Given the description of an element on the screen output the (x, y) to click on. 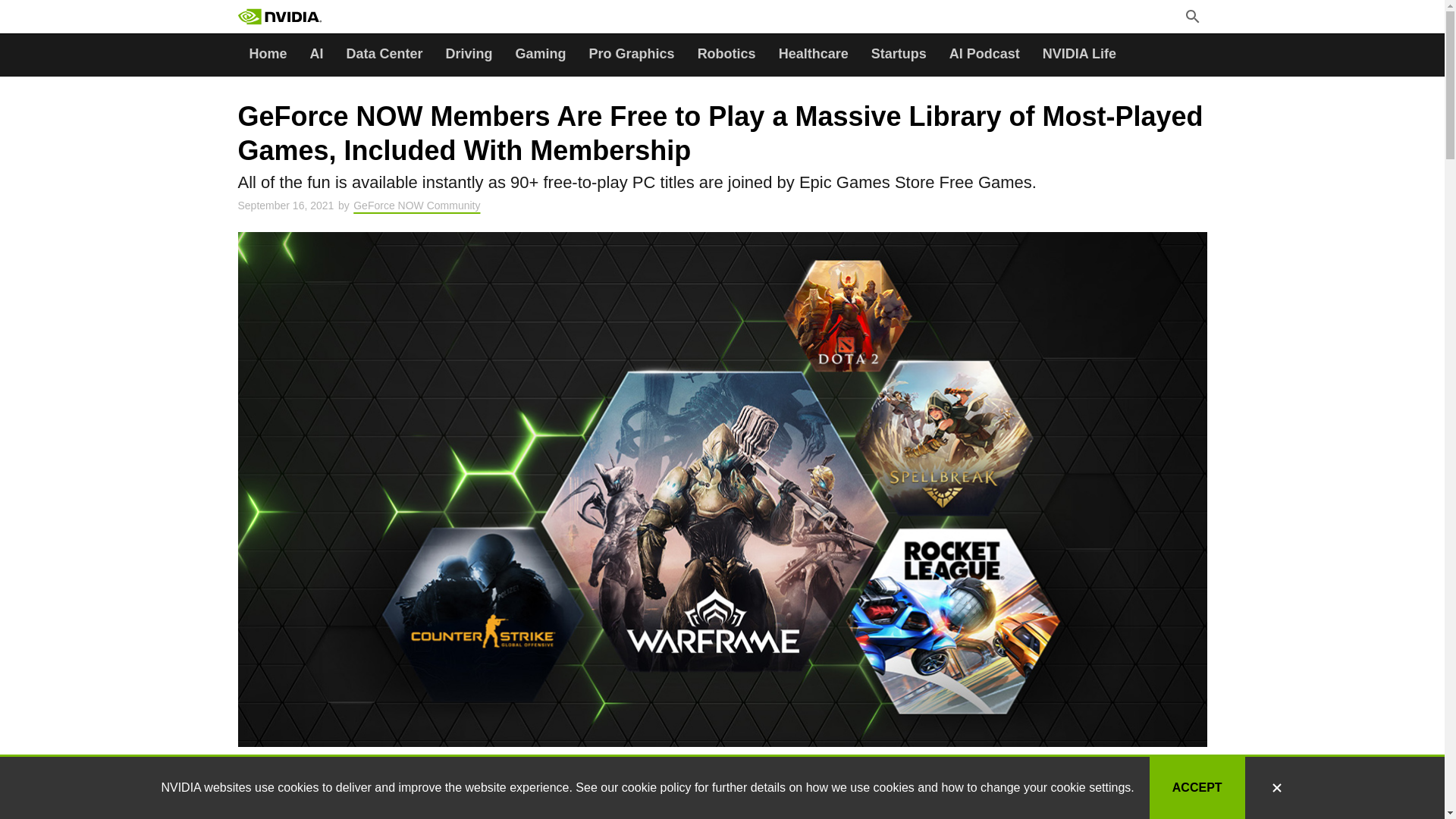
View all posts by GeForce NOW Community (416, 204)
Artificial Intelligence Computing Leadership from NVIDIA (314, 16)
Gaming (540, 55)
Healthcare (813, 55)
Artificial Intelligence Computing Leadership from NVIDIA (279, 16)
Pro Graphics (631, 55)
Data Center (383, 55)
Driving (468, 55)
NVIDIA Life (1078, 55)
AI Podcast (983, 55)
GeForce NOW Community (416, 204)
Robotics (726, 55)
Startups (898, 55)
Home (268, 55)
Search (374, 18)
